Given the description of an element on the screen output the (x, y) to click on. 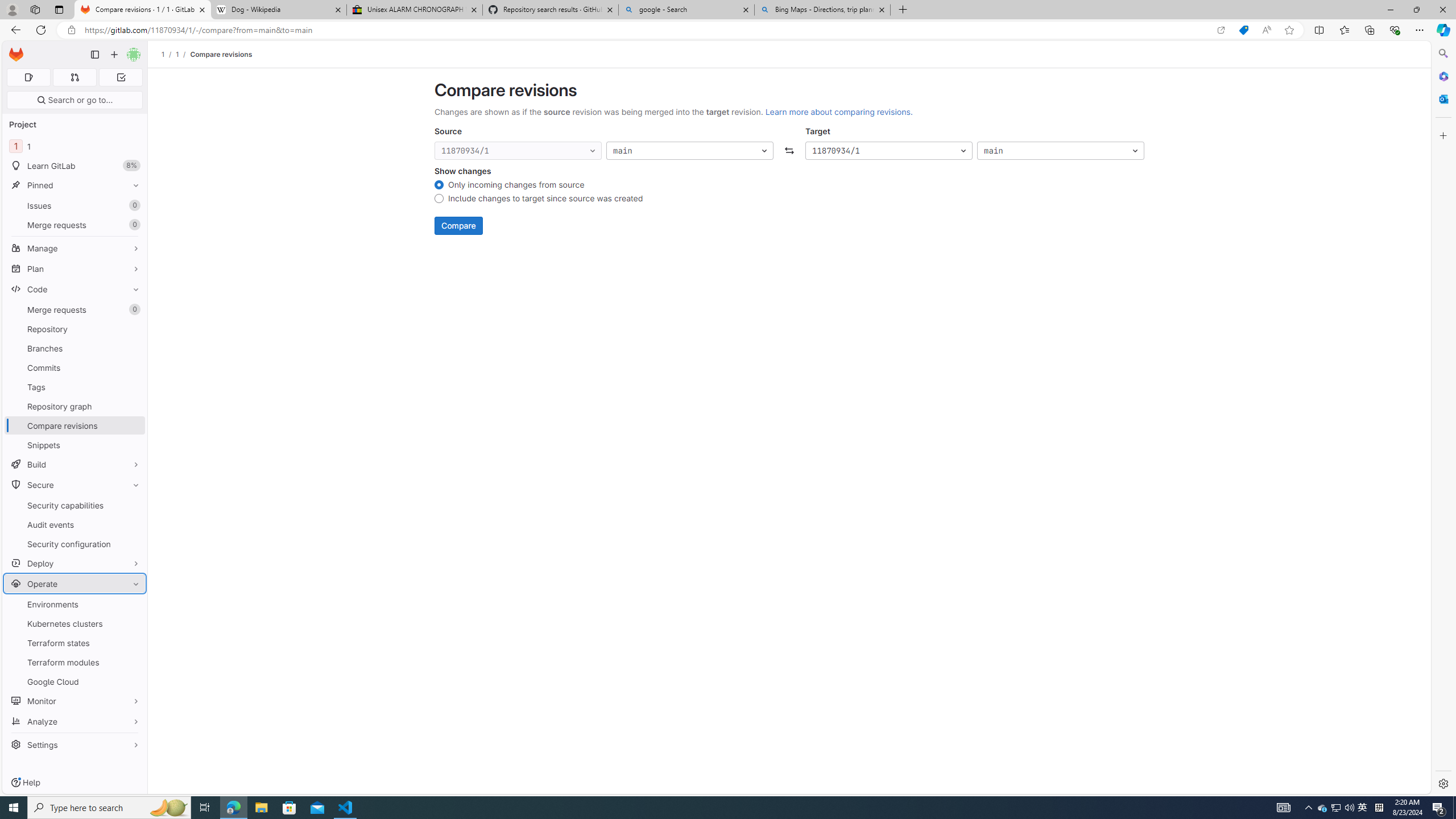
Pin Repository (132, 328)
Security capabilities (74, 505)
11 (74, 145)
Repository (74, 328)
Plan (74, 268)
Deploy (74, 562)
Secure (74, 484)
1/ (183, 53)
Pin Kubernetes clusters (132, 623)
Learn GitLab8% (74, 165)
Pin Audit events (132, 524)
